Given the description of an element on the screen output the (x, y) to click on. 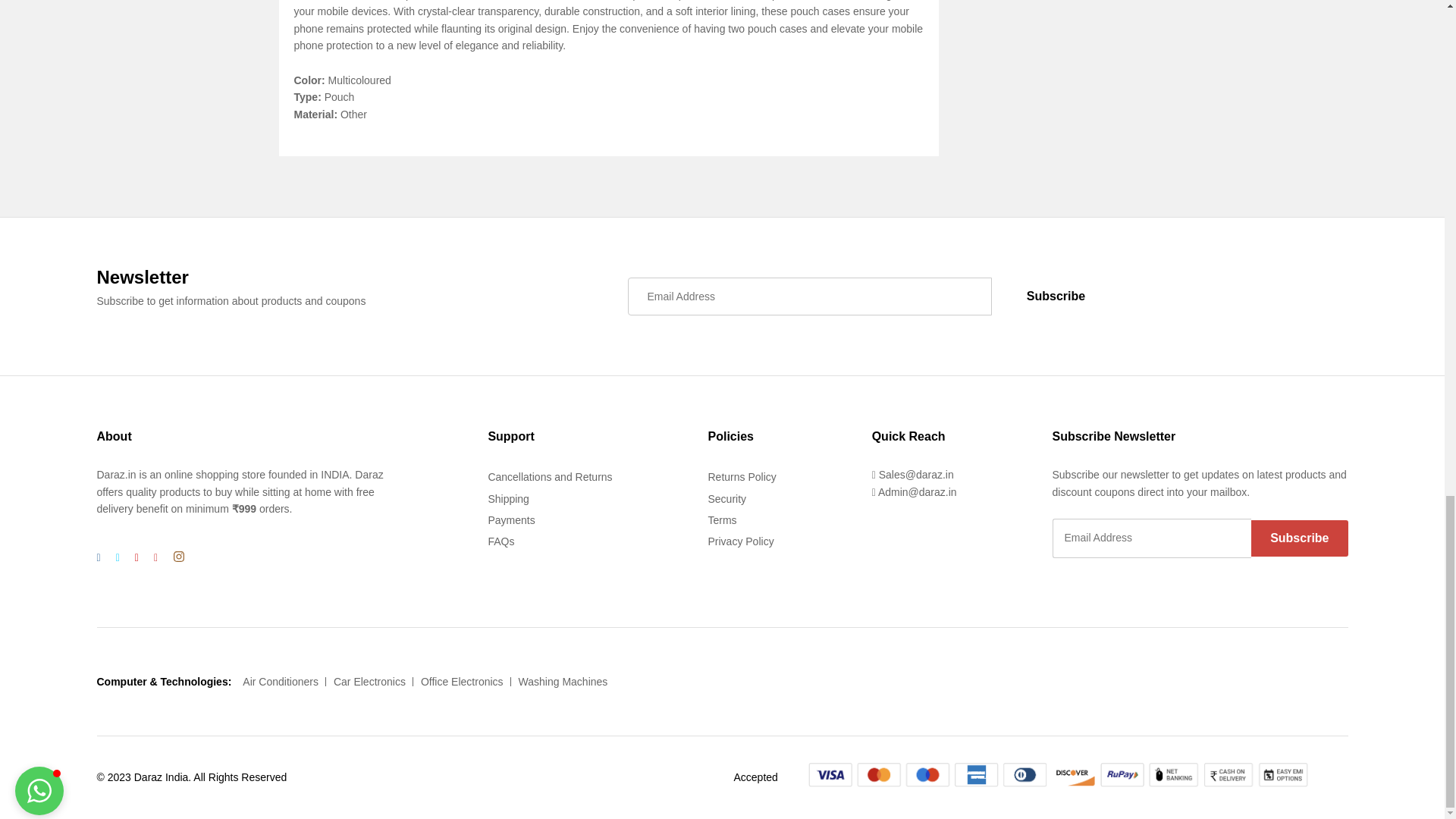
Google Plus (137, 556)
Twitter (117, 556)
Youtube (156, 556)
Instagram (178, 557)
Subscribe (1299, 538)
Subscribe (1056, 296)
Facebook (97, 556)
